Given the description of an element on the screen output the (x, y) to click on. 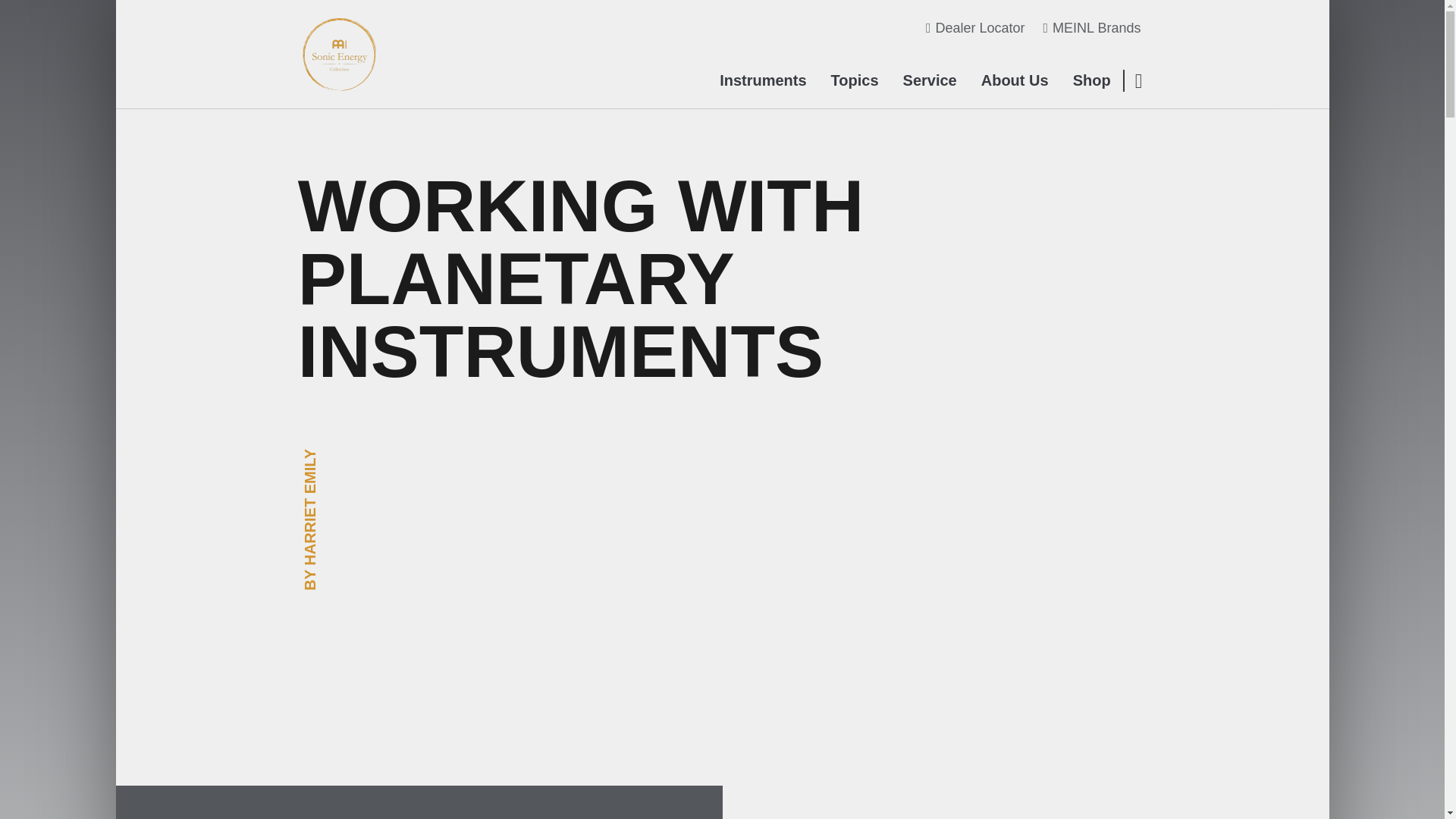
Instruments (762, 80)
MEINL Brands (1092, 28)
Shop (1091, 80)
Dealer Locator (975, 28)
About Us (1014, 80)
Service (929, 80)
Topics (855, 80)
